Given the description of an element on the screen output the (x, y) to click on. 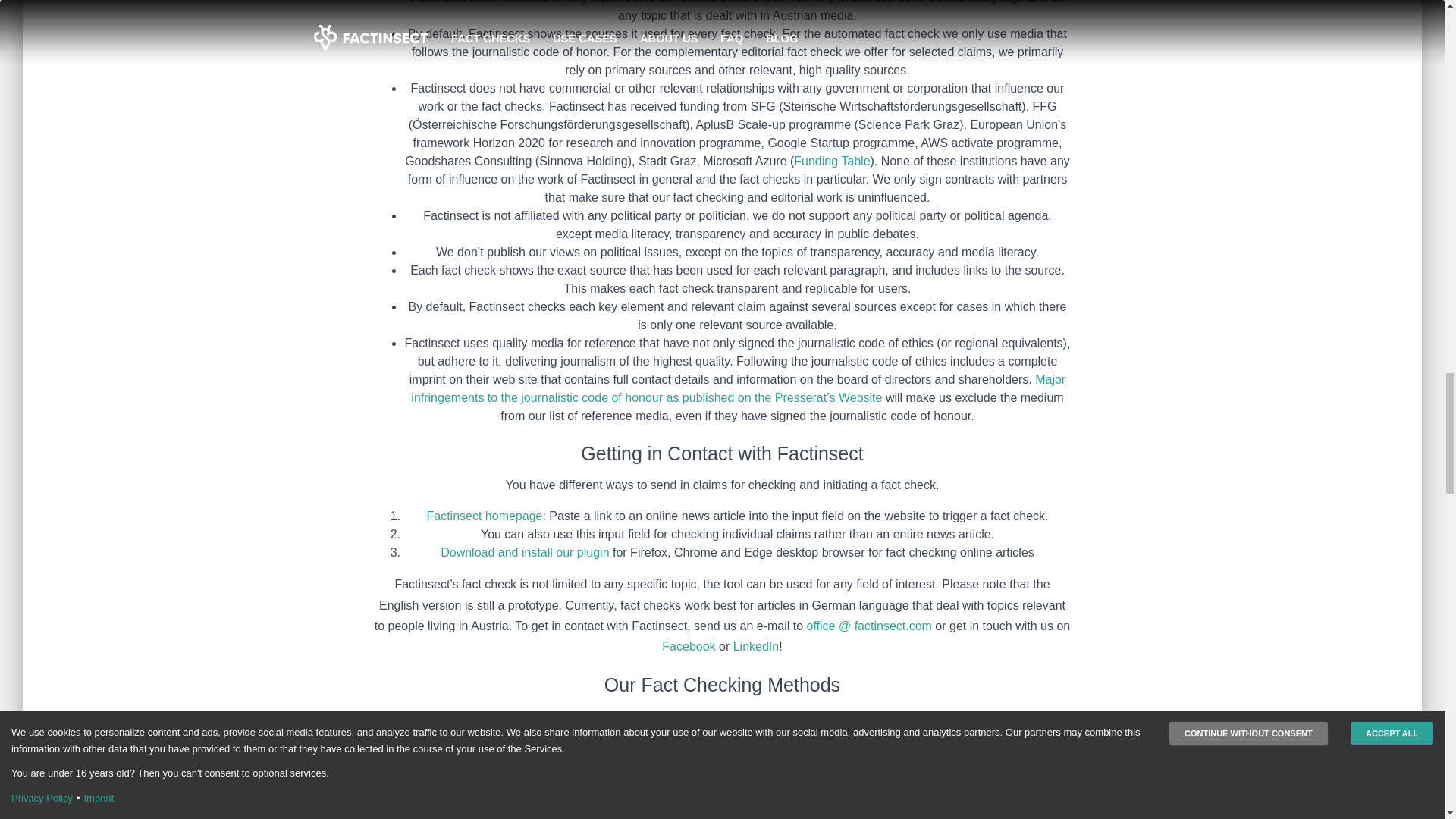
Funding Table (831, 160)
Factinsect homepage (483, 515)
Download and install our plugin (526, 552)
